Given the description of an element on the screen output the (x, y) to click on. 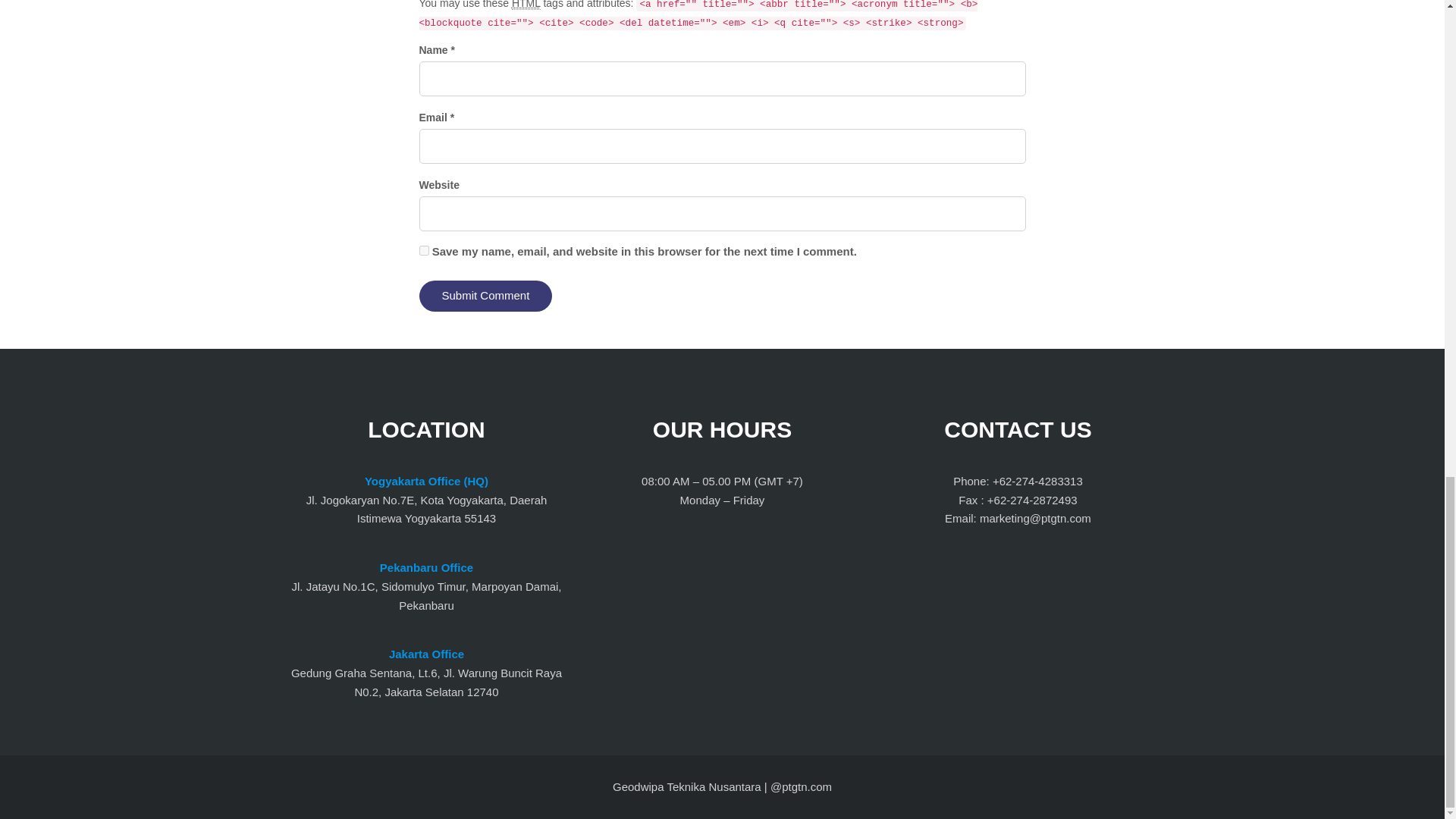
HyperText Markup Language (526, 4)
yes (423, 250)
Submit Comment (485, 296)
